Given the description of an element on the screen output the (x, y) to click on. 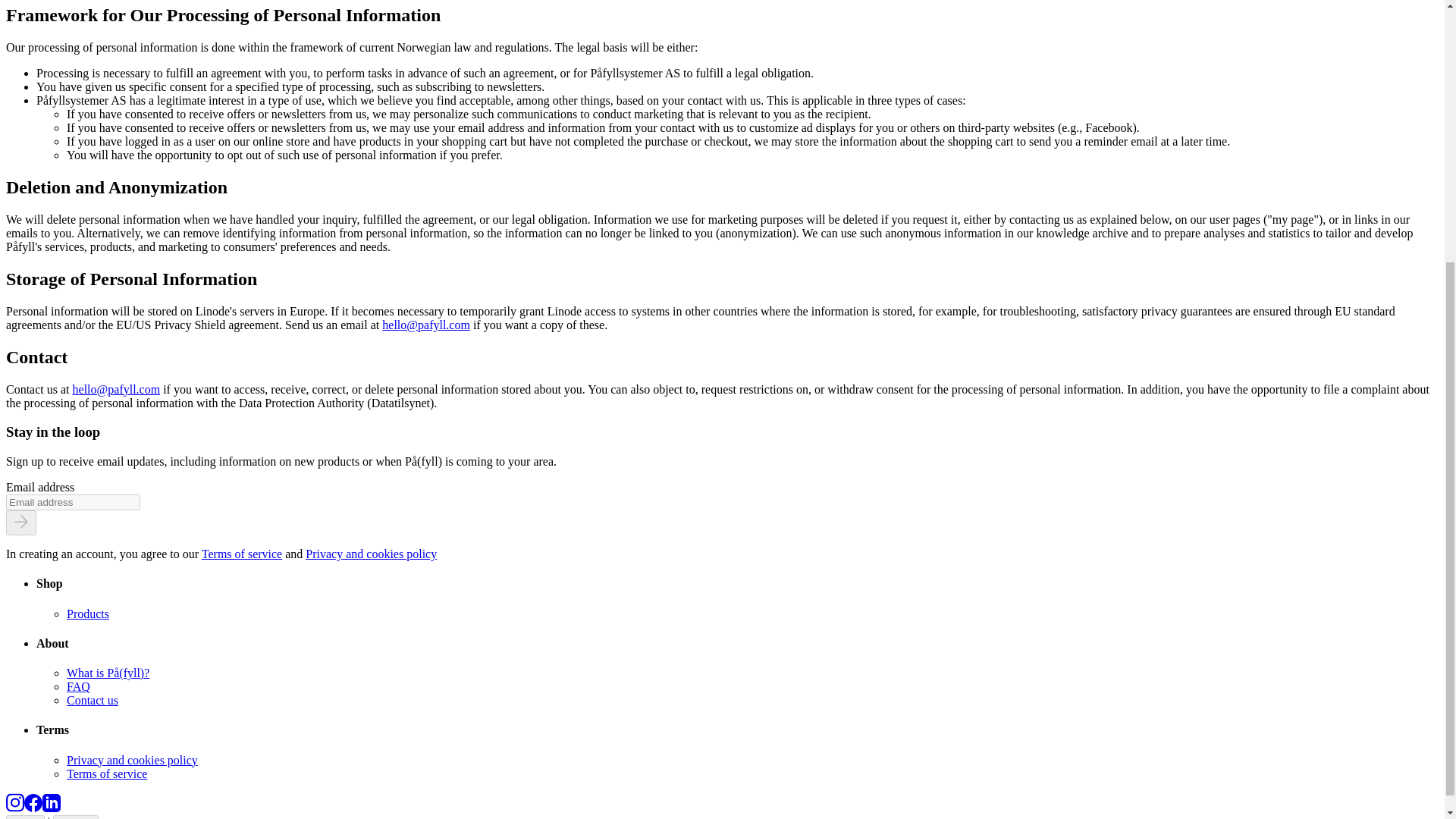
Terms of service (242, 553)
Products (87, 613)
Contact us (91, 699)
FAQ (78, 686)
Privacy and cookies policy (370, 553)
Terms of service (106, 773)
Privacy and cookies policy (132, 759)
